Given the description of an element on the screen output the (x, y) to click on. 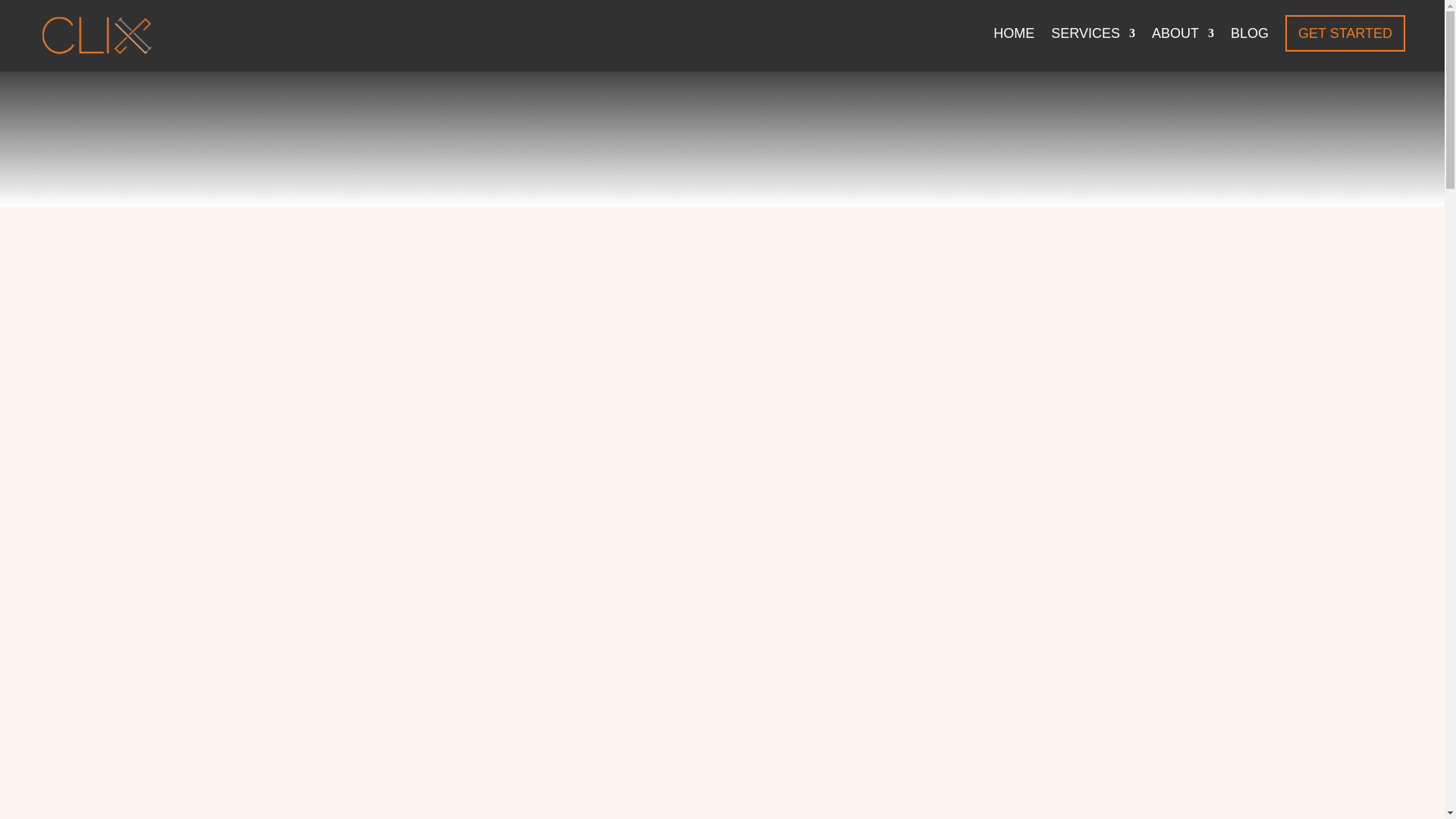
Subscribe (1128, 398)
GET STARTED (1345, 33)
SERVICES (1093, 45)
BLOG (1249, 45)
ABOUT (1182, 45)
HOME (1012, 45)
Search (1274, 465)
